Given the description of an element on the screen output the (x, y) to click on. 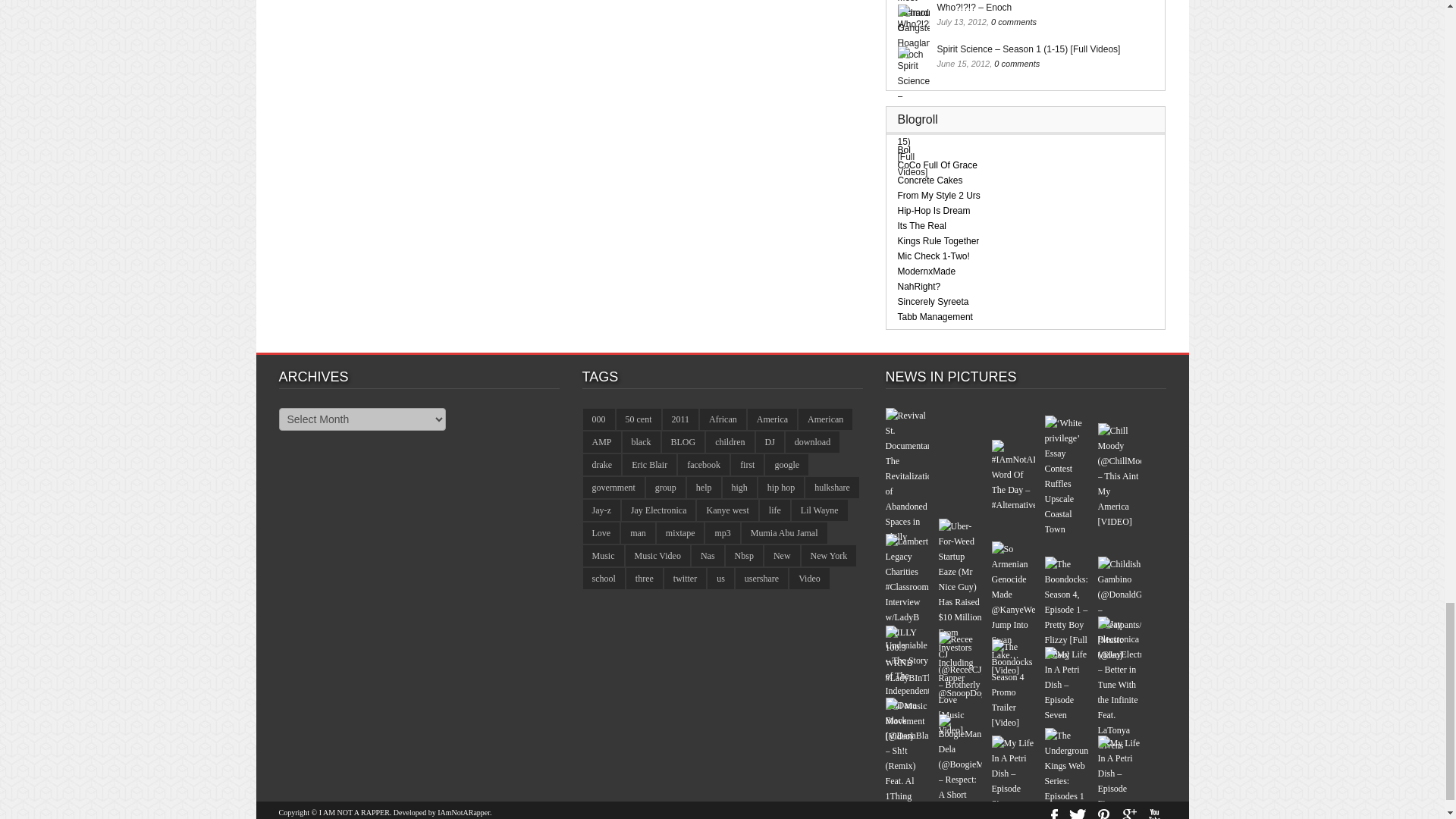
Comment Form (571, 61)
